Given the description of an element on the screen output the (x, y) to click on. 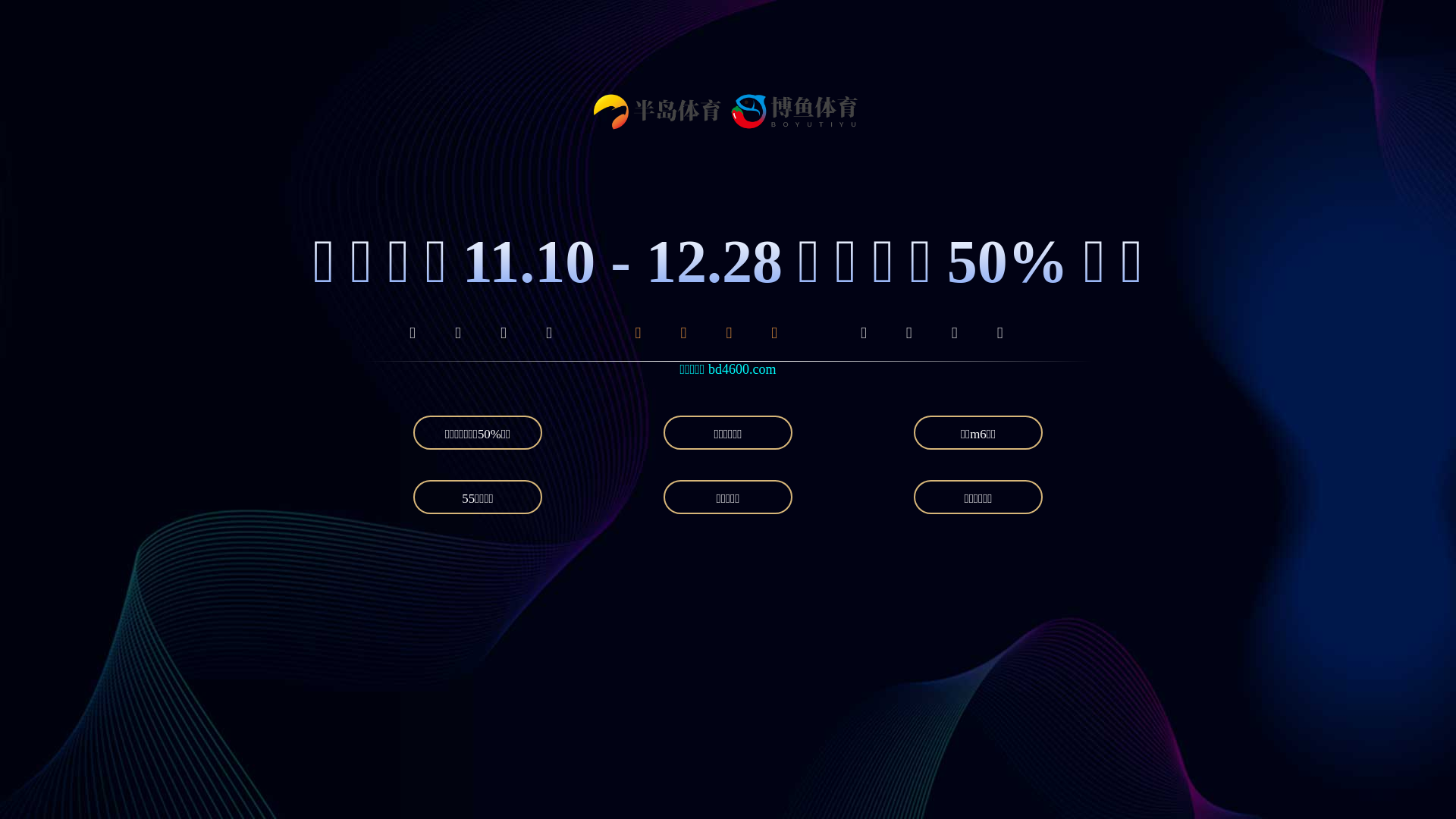
XML Element type: text (1135, 24)
RSS Element type: text (1109, 24)
